Given the description of an element on the screen output the (x, y) to click on. 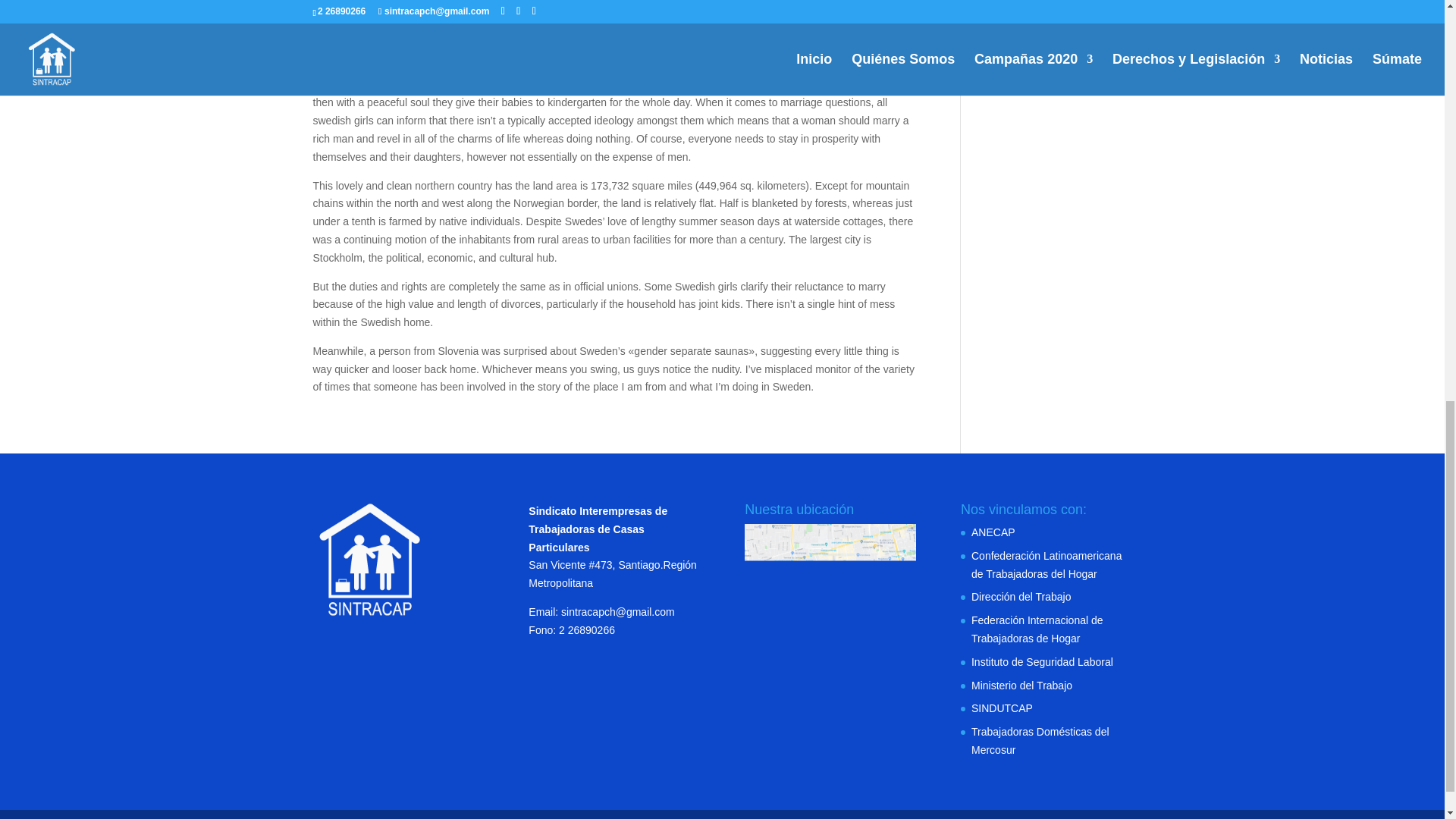
Ministerio del Trabajo (1021, 685)
Instituto de Seguridad Laboral (1042, 662)
ANECAP (992, 532)
